Given the description of an element on the screen output the (x, y) to click on. 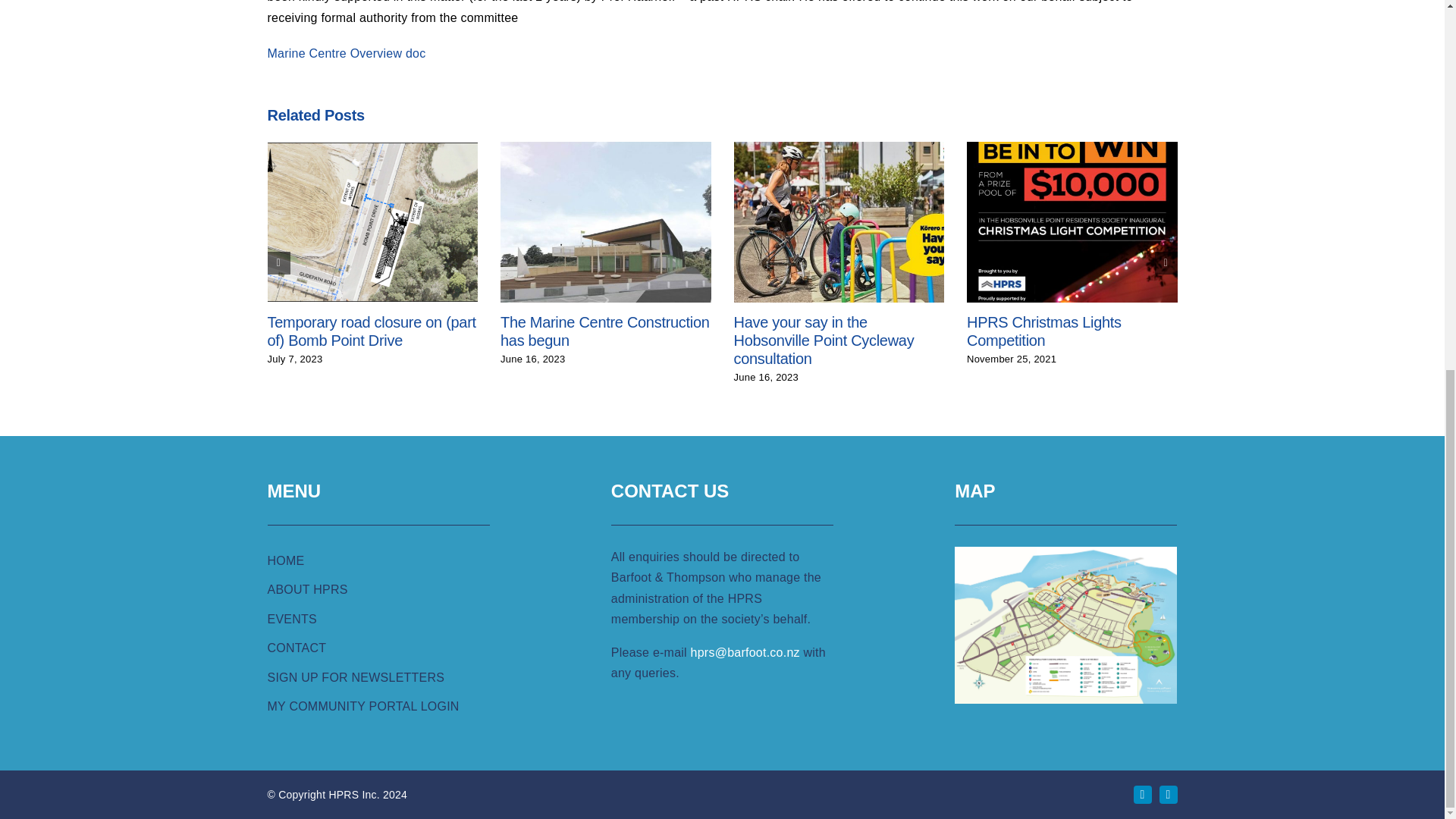
HPRS Christmas Lights Competition (1043, 330)
Have your say in the Hobsonville Point Cycleway consultation (823, 339)
Facebook (1141, 794)
The Marine Centre Construction has begun (605, 330)
Instagram (1167, 794)
